Given the description of an element on the screen output the (x, y) to click on. 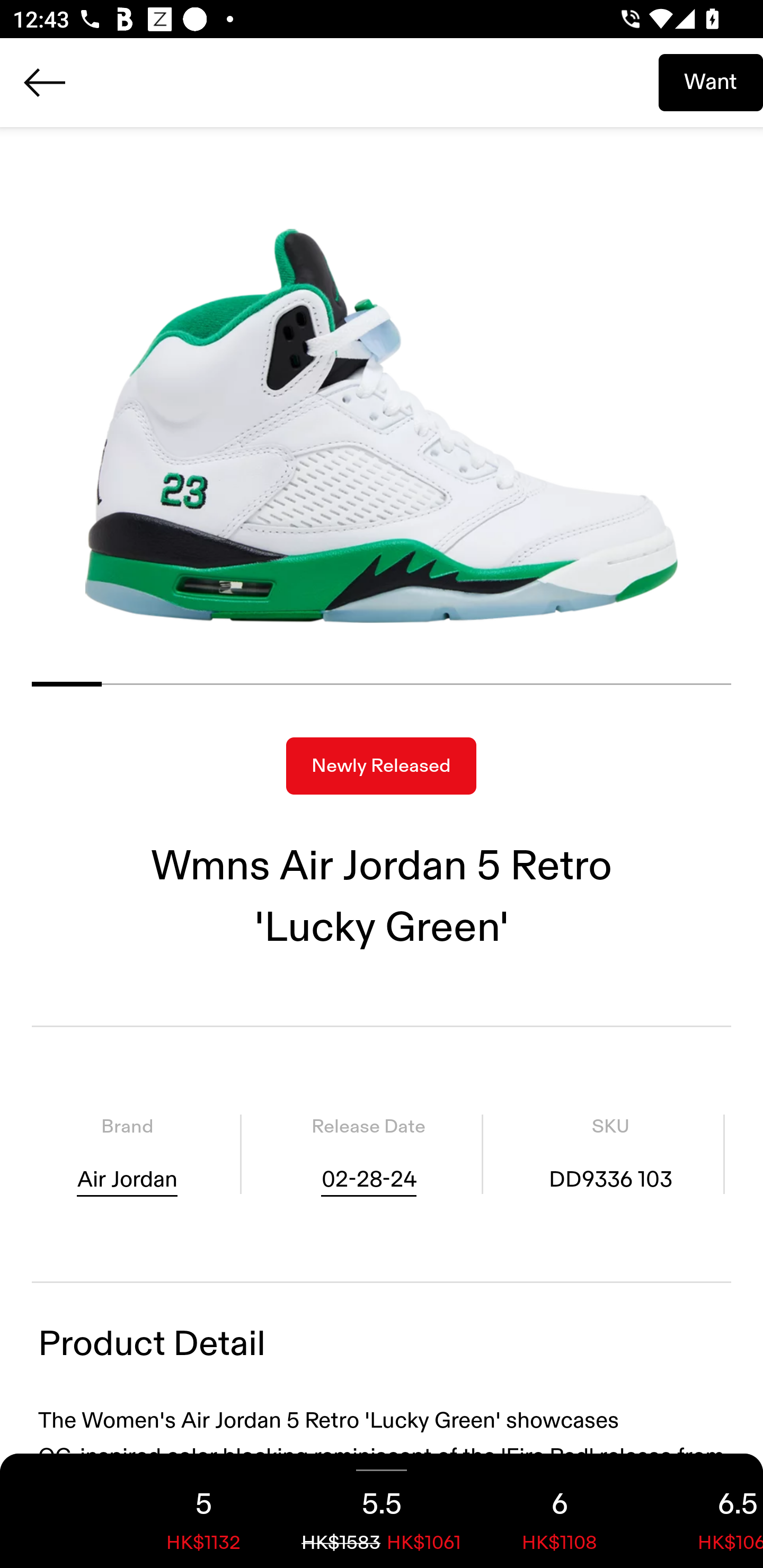
Want (710, 82)
Newly Released (381, 765)
Brand Air Jordan (126, 1153)
Release Date 02-28-24 (368, 1153)
SKU DD9336 103 (609, 1153)
5 HK$1132 (203, 1510)
5.5 HK$1583 HK$1061 (381, 1510)
6 HK$1108 (559, 1510)
6.5 HK$1068 (705, 1510)
